Given the description of an element on the screen output the (x, y) to click on. 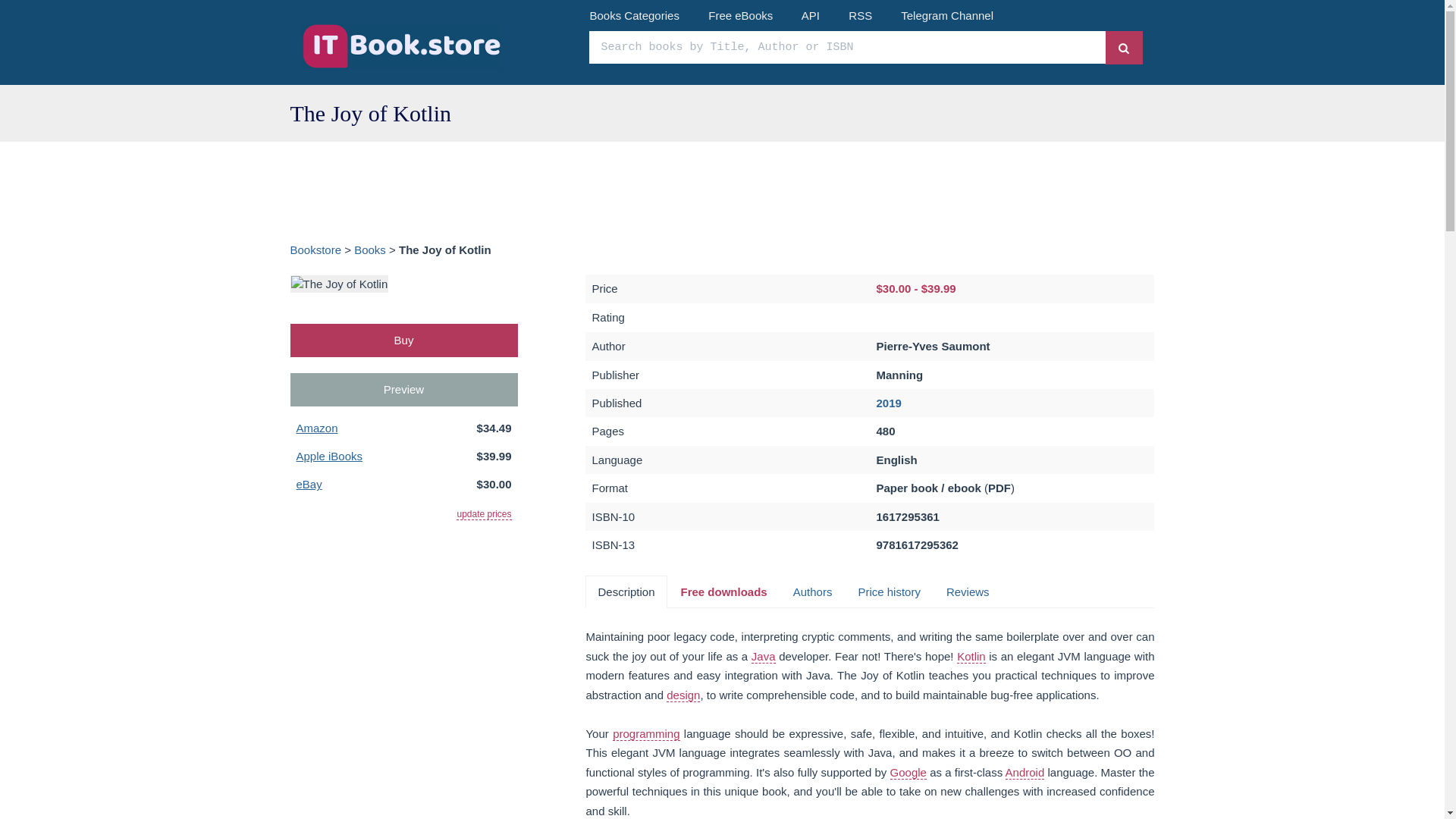
Books (369, 249)
Preview (402, 389)
Programming Books (645, 734)
The Joy of Kotlin (338, 282)
Search (1123, 47)
IT Bookstore (434, 45)
Design Books (683, 694)
Free eBooks (740, 15)
Buy (402, 339)
Books Categories (633, 15)
Books Categories (633, 15)
Description (625, 591)
Preview (402, 389)
Java (763, 656)
eBay (308, 483)
